Given the description of an element on the screen output the (x, y) to click on. 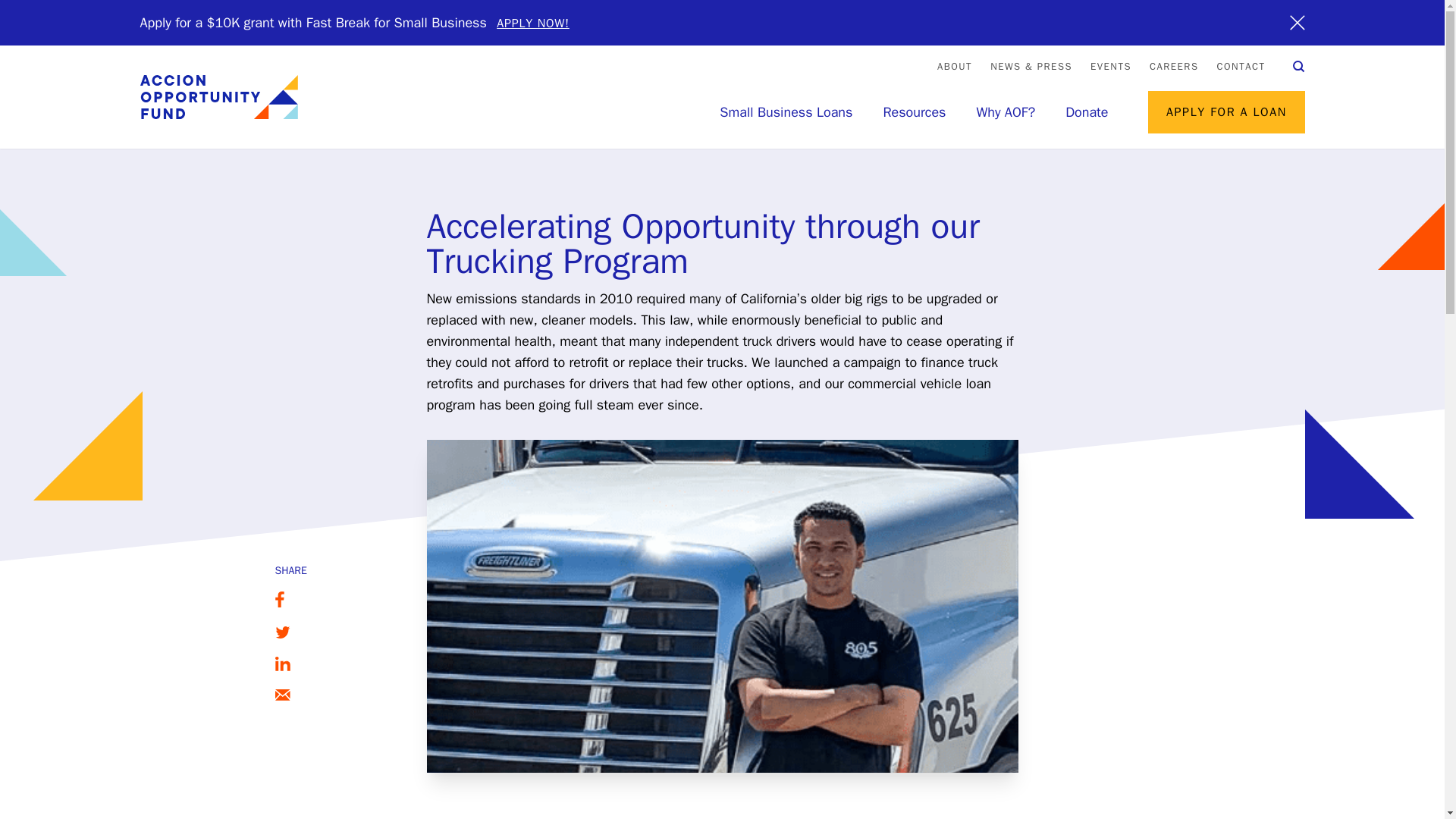
CONTACT (1240, 65)
APPLY NOW! (532, 23)
Small Business Loans (785, 112)
Accion Opportunity Fund (218, 96)
APPLY FOR A LOAN (1226, 111)
Why AOF? (1005, 112)
CAREERS (1174, 65)
Donate (1086, 112)
EVENTS (1110, 65)
ABOUT (954, 65)
